Given the description of an element on the screen output the (x, y) to click on. 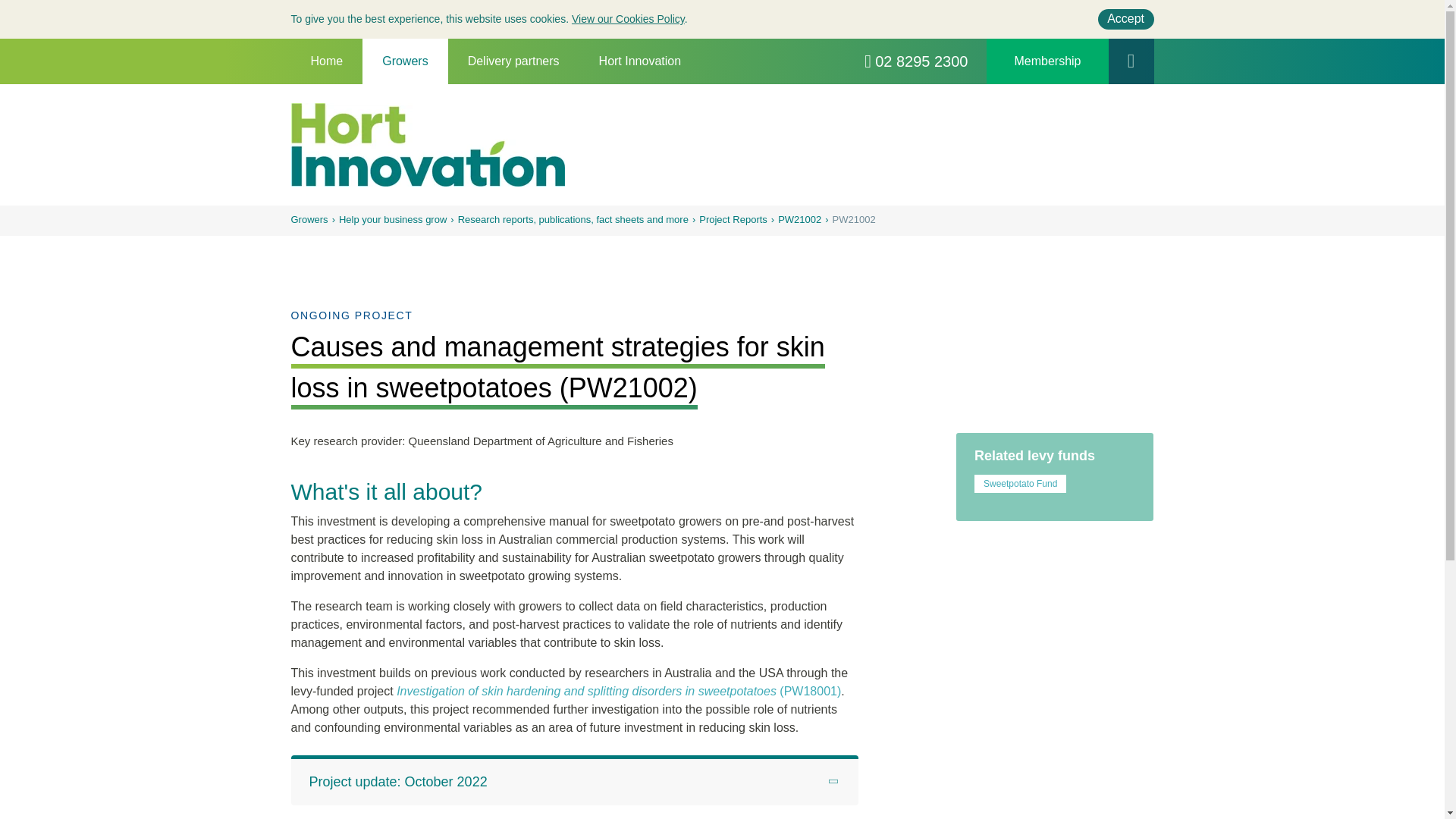
Accept (1125, 19)
Delivery partners (513, 61)
View our Cookies Policy (628, 19)
Growers (404, 61)
Home (326, 61)
02 8295 2300 (916, 60)
